Given the description of an element on the screen output the (x, y) to click on. 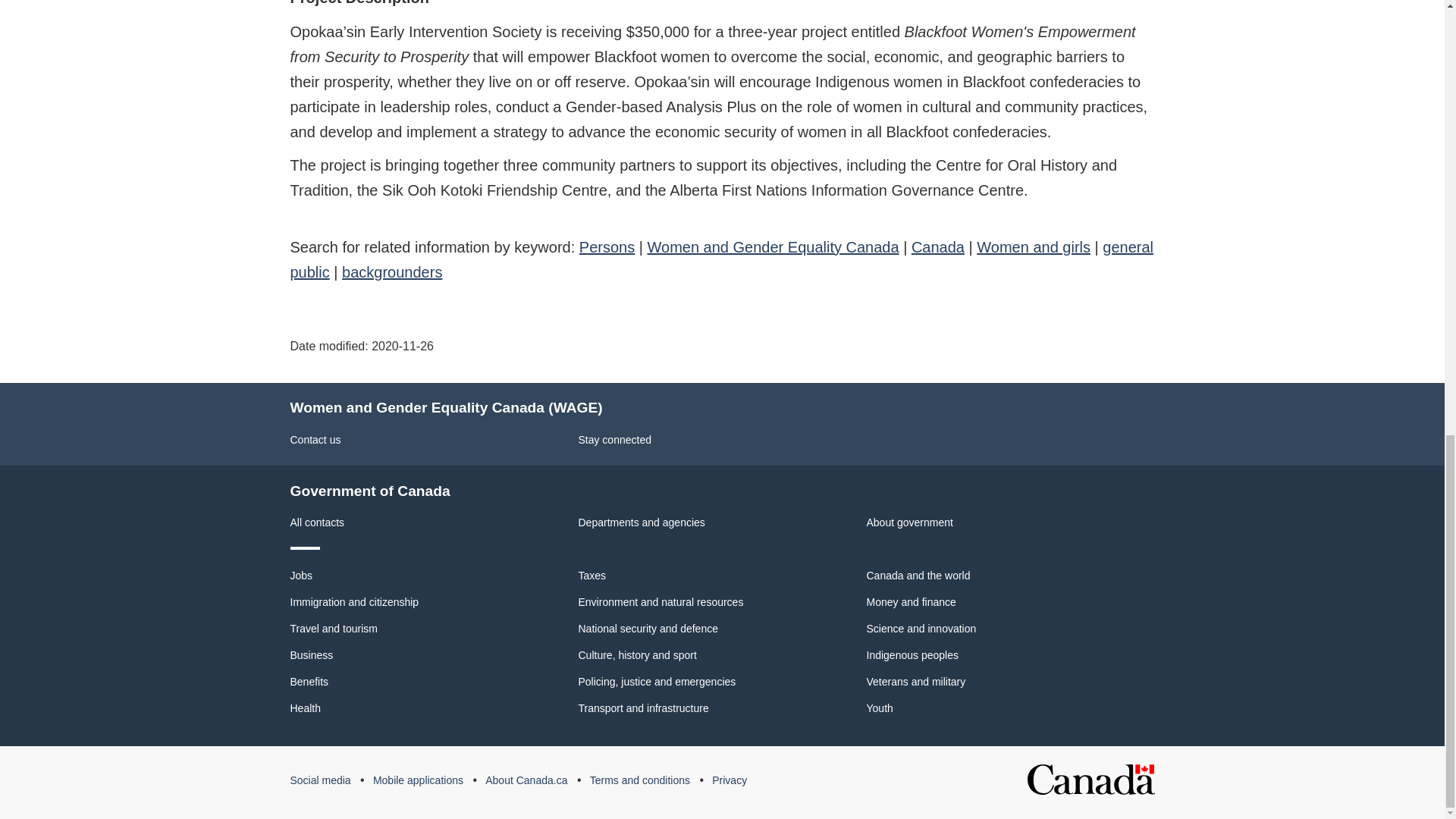
Contact us (314, 439)
Persons (606, 247)
general public (721, 259)
Travel and tourism (333, 628)
Stay connected (614, 439)
Canada (937, 247)
About government (909, 522)
Women and Gender Equality Canada (773, 247)
Women and girls (1033, 247)
Business (311, 654)
Immigration and citizenship (354, 602)
Departments and agencies (641, 522)
All contacts (316, 522)
backgrounders (392, 271)
Jobs (301, 575)
